Given the description of an element on the screen output the (x, y) to click on. 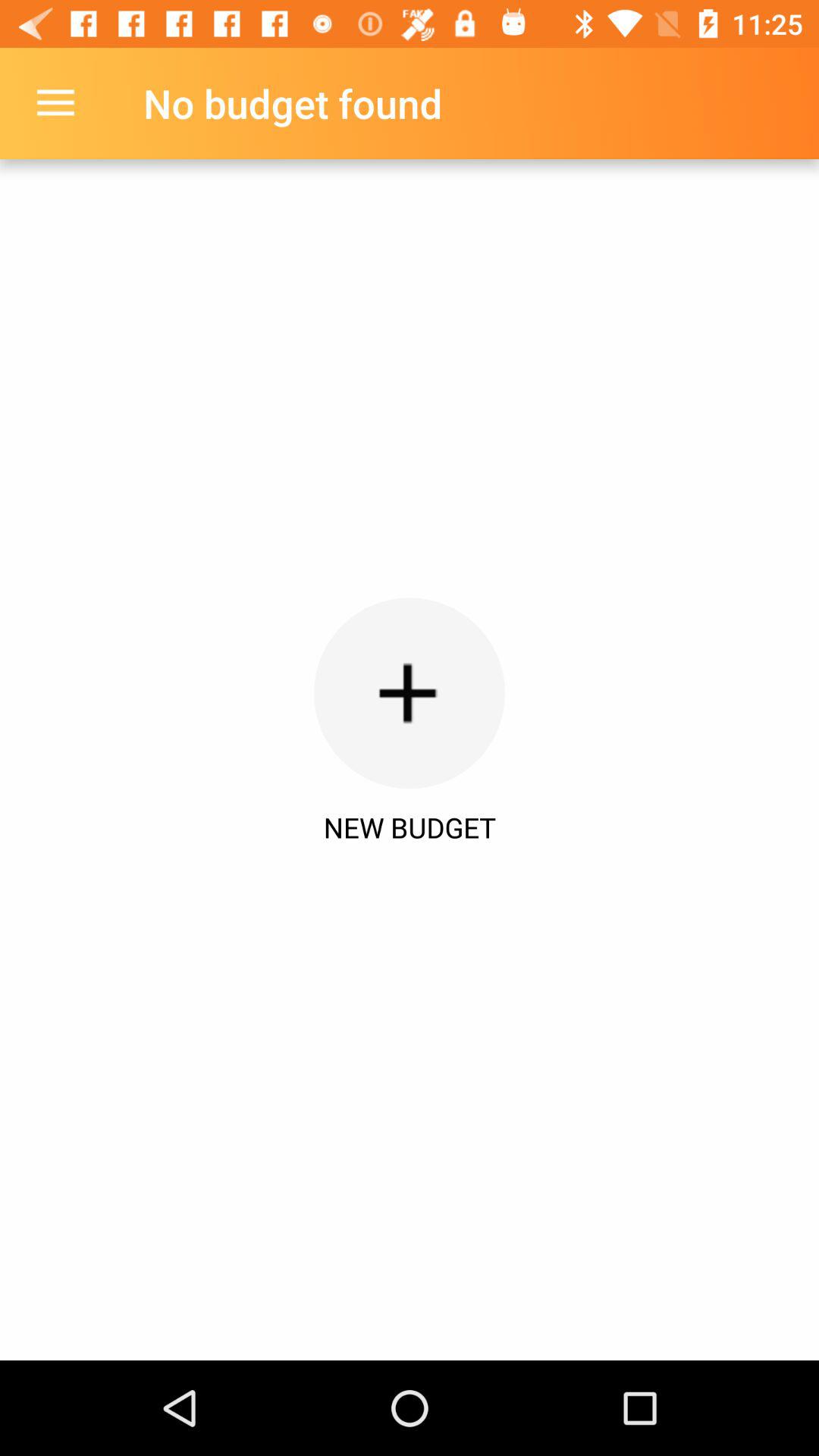
press item above the new budget (55, 103)
